Given the description of an element on the screen output the (x, y) to click on. 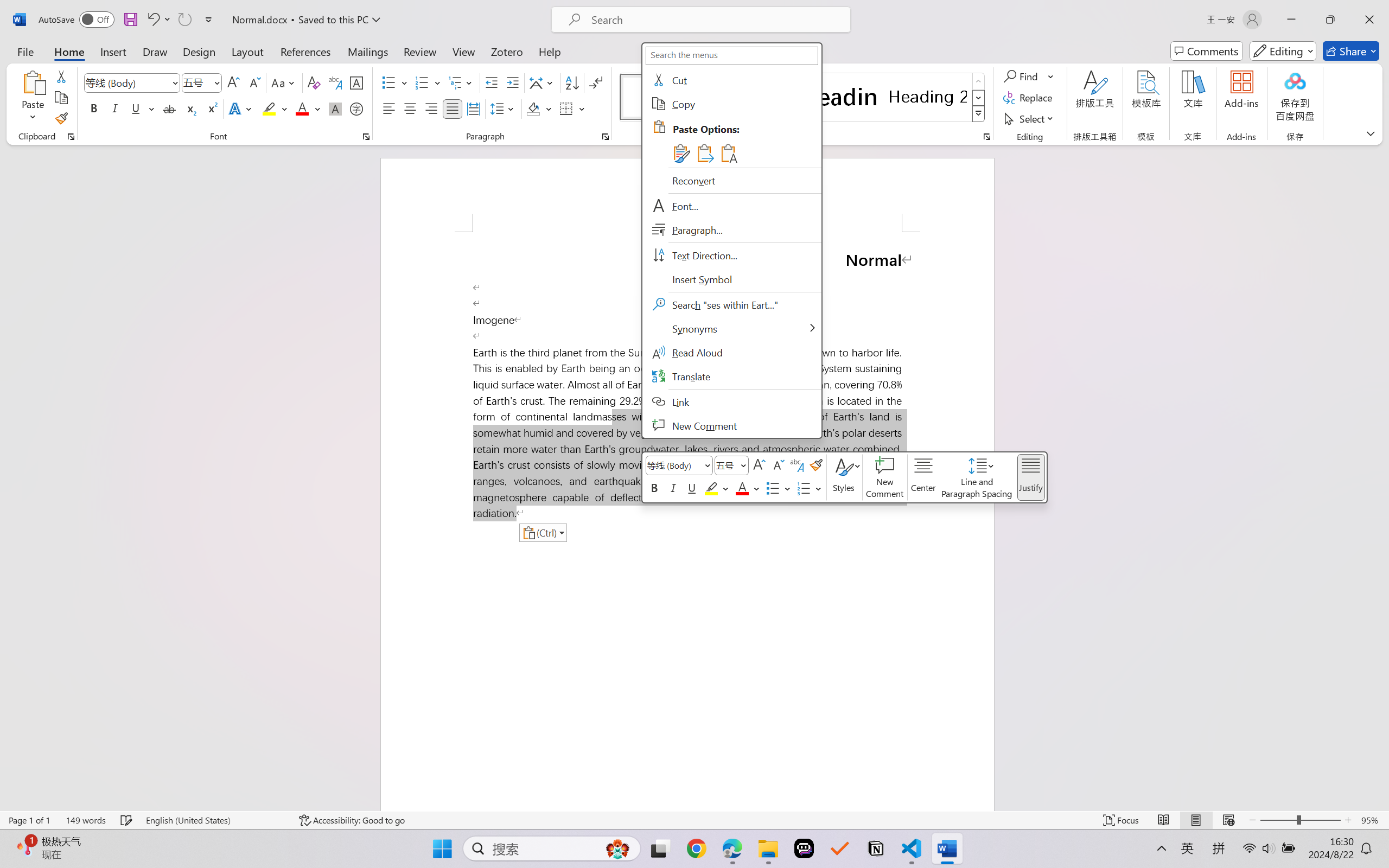
Italic (115, 108)
Copy (60, 97)
Context Menu (731, 240)
Shading (539, 108)
Reconvert (730, 180)
Undo Paste Text Only (158, 19)
Paragraph... (730, 229)
Character Shading (334, 108)
Row up (978, 81)
New Comment (730, 425)
Character Border (356, 82)
